Given the description of an element on the screen output the (x, y) to click on. 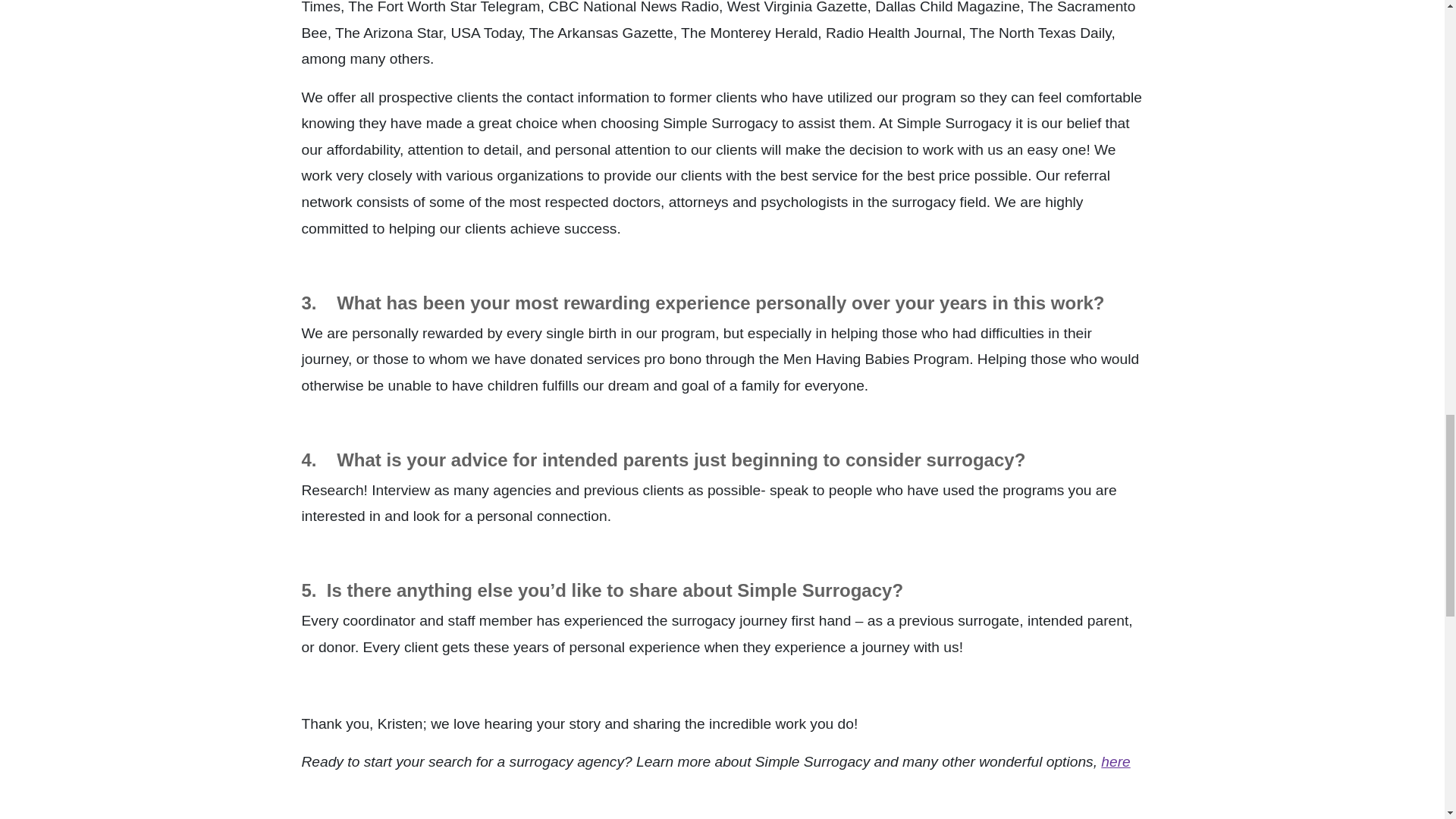
here (1114, 761)
